Given the description of an element on the screen output the (x, y) to click on. 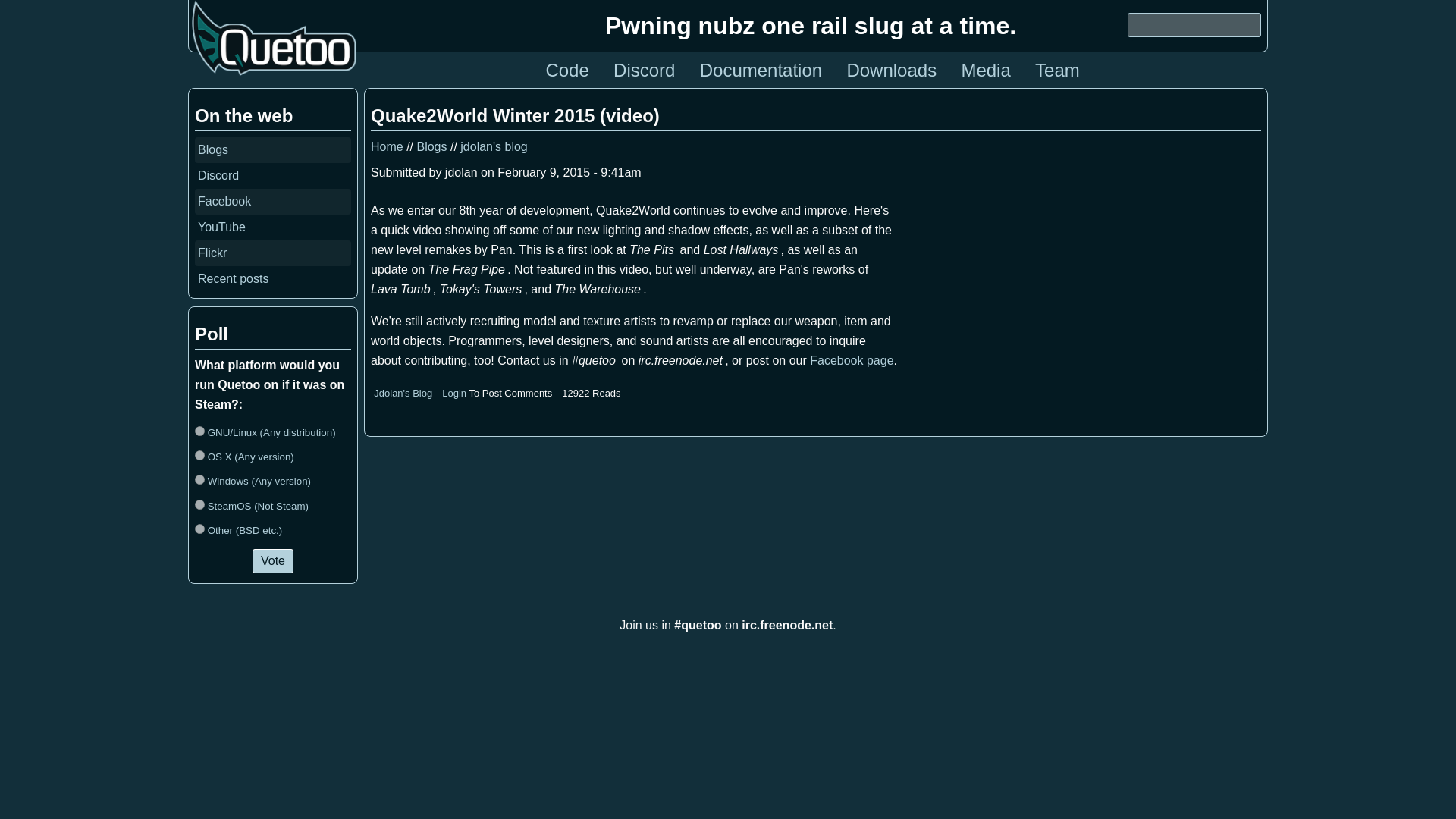
Vote (272, 560)
Downloads (890, 69)
Discord (218, 174)
Follow Quake2World on Github (566, 69)
2 (200, 479)
Blogs (431, 146)
Facebook (224, 201)
Team (1057, 69)
1 (200, 455)
Read jdolan's latest blog entries. (403, 392)
jdolan's blog (493, 146)
Pwning nubz one rail slug at a time. (810, 25)
Vote (272, 560)
0 (200, 430)
Discord (643, 69)
